Given the description of an element on the screen output the (x, y) to click on. 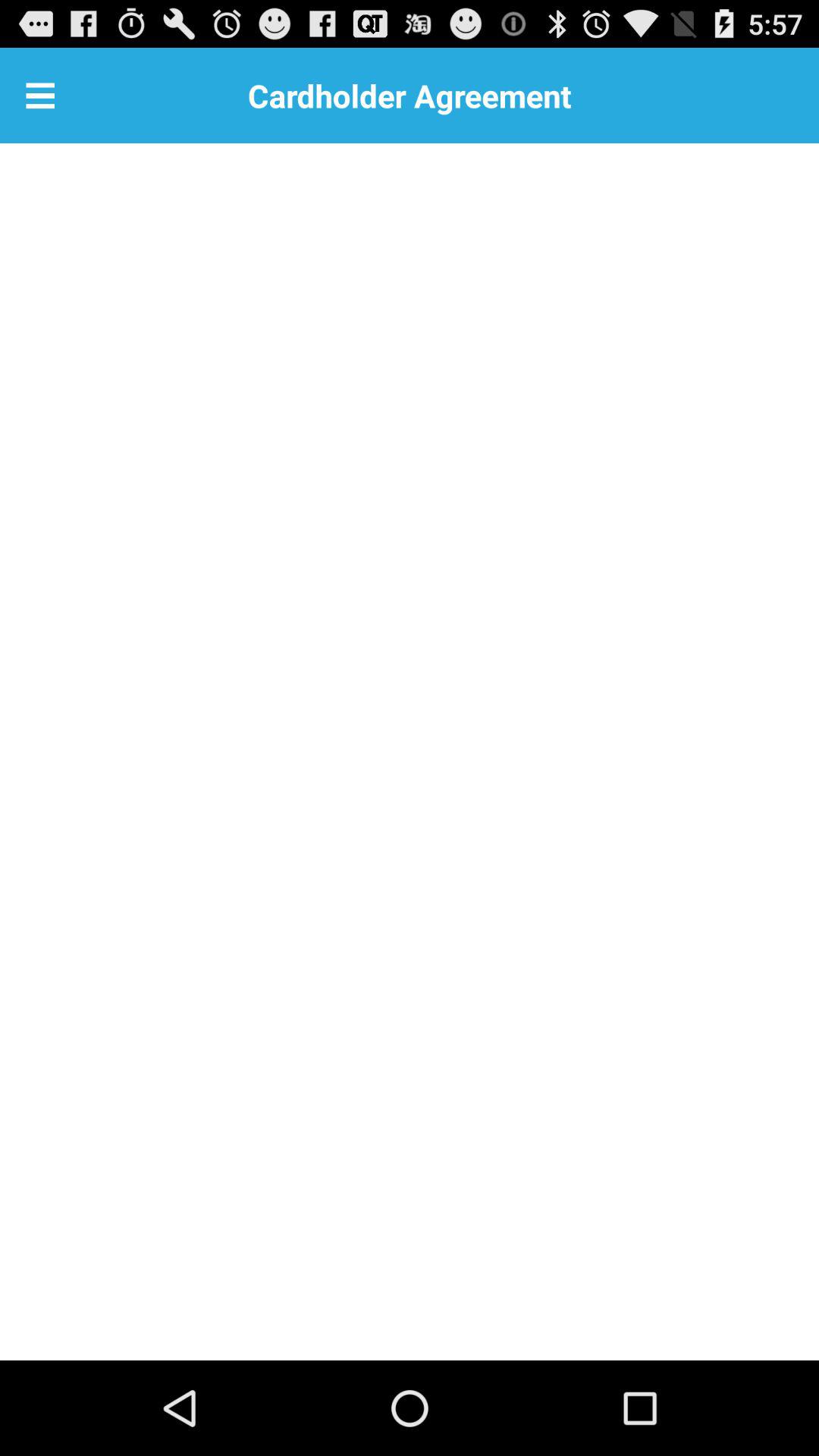
open item next to the cardholder agreement (39, 95)
